Given the description of an element on the screen output the (x, y) to click on. 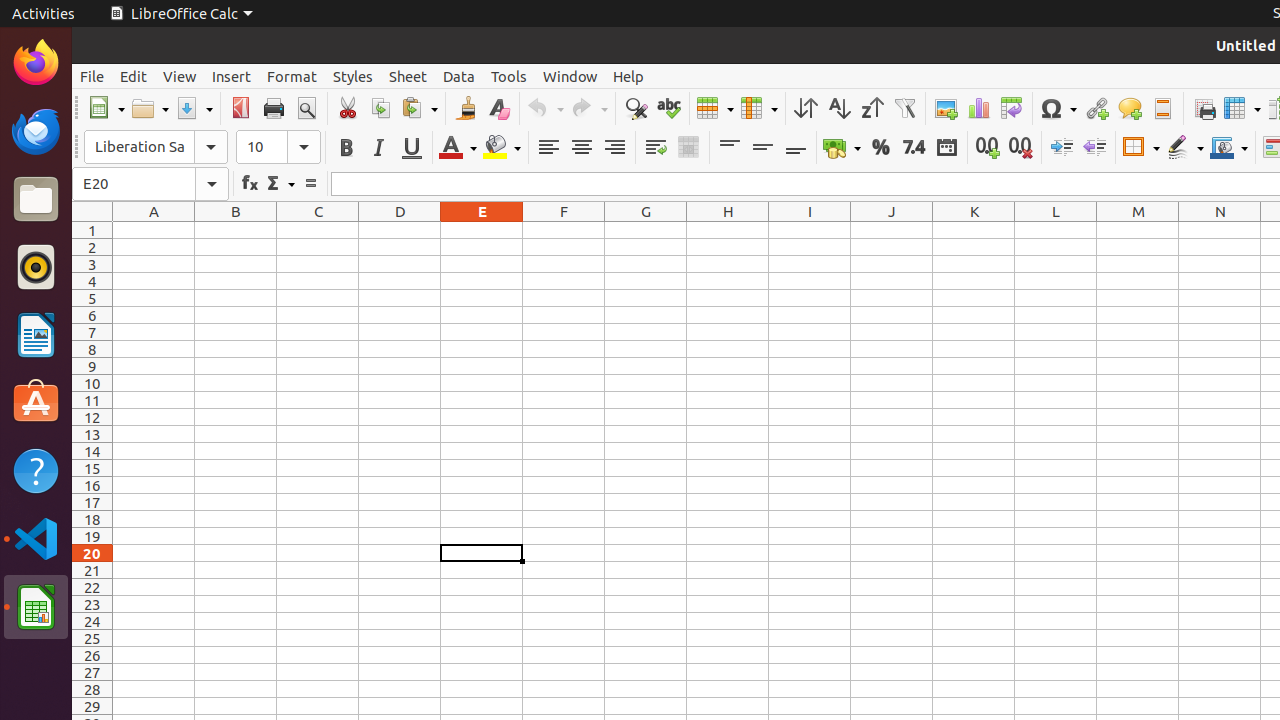
Row Element type: push-button (715, 108)
M1 Element type: table-cell (1138, 230)
Paste Element type: push-button (419, 108)
G1 Element type: table-cell (646, 230)
